Given the description of an element on the screen output the (x, y) to click on. 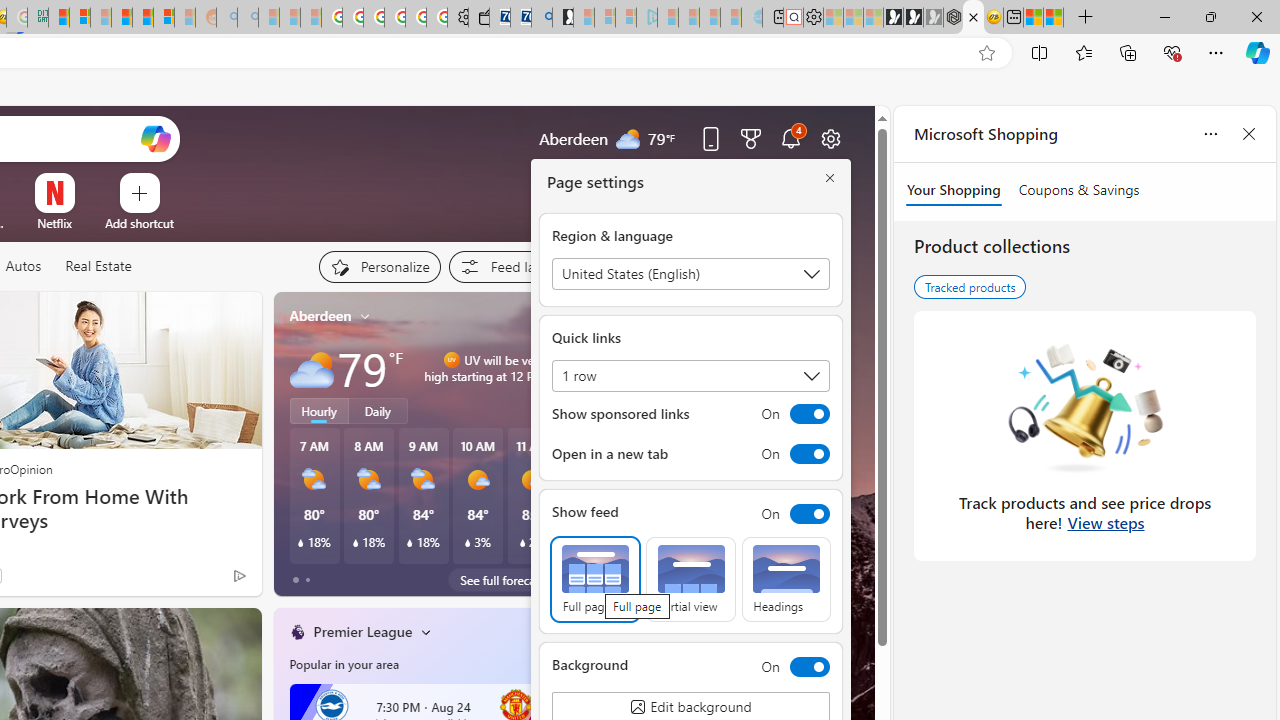
See full forecast (502, 579)
tab-0 (295, 579)
Aberdeen (320, 315)
Region & language (690, 273)
tab-1 (306, 579)
Partial view (690, 579)
Daily (378, 411)
